Given the description of an element on the screen output the (x, y) to click on. 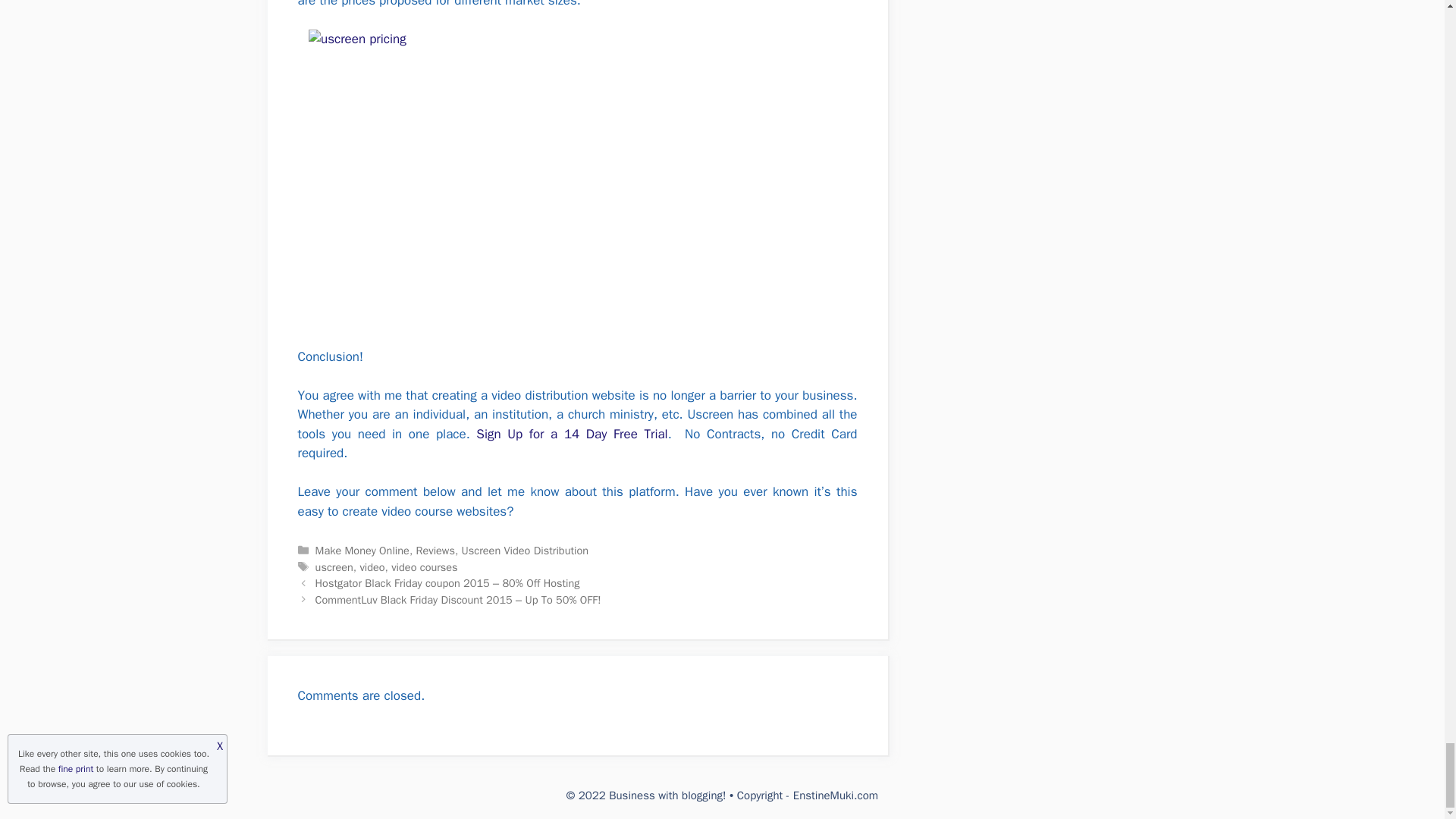
Make Money Online (362, 550)
Sign Up for a (520, 433)
Reviews (435, 550)
uscreen (334, 567)
video (371, 567)
14 Day Free Trial (616, 433)
Uscreen Video Distribution (525, 550)
video courses (424, 567)
